Given the description of an element on the screen output the (x, y) to click on. 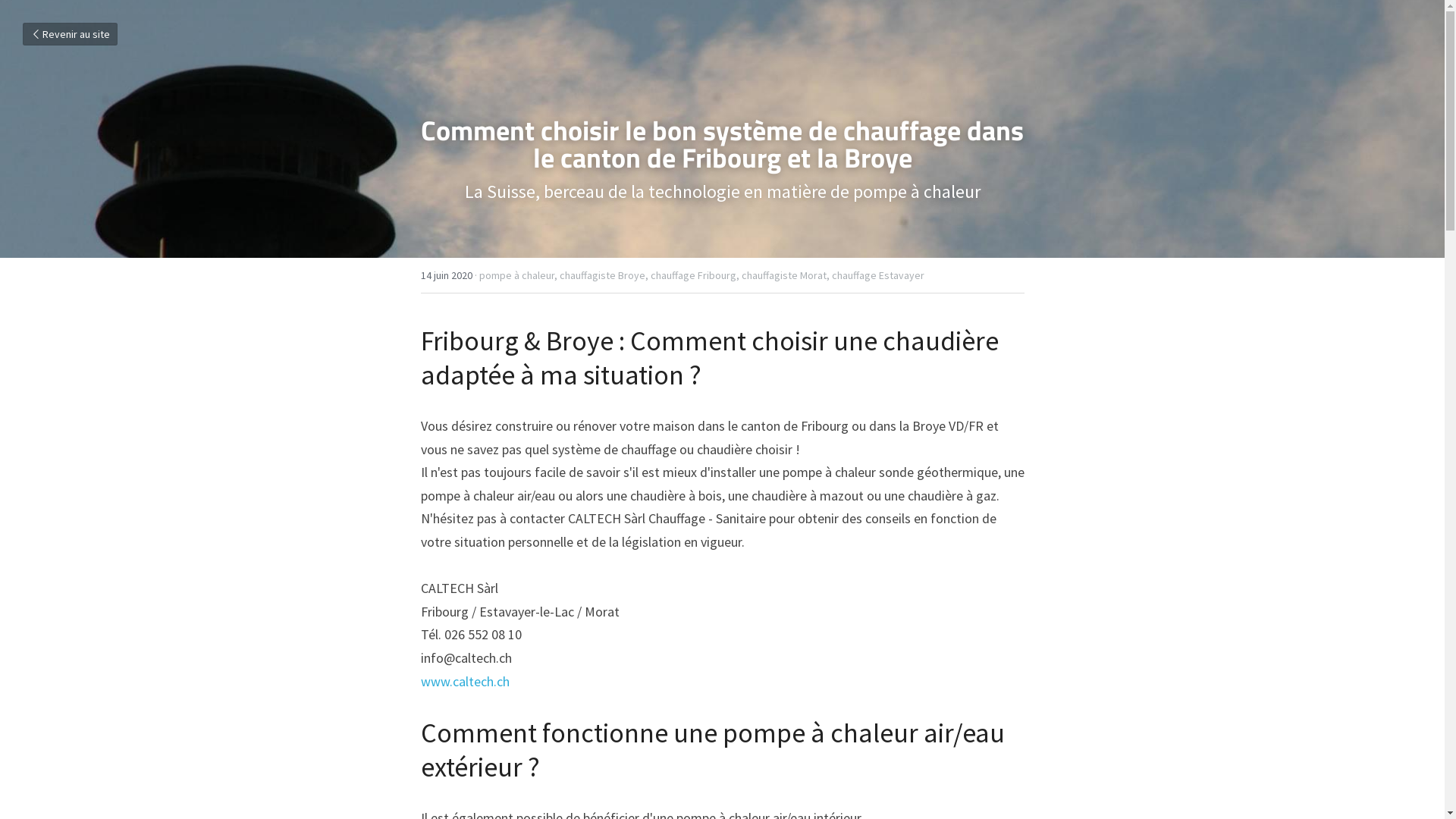
Revenir au site Element type: text (69, 33)
www.caltech.ch Element type: text (464, 681)
